Given the description of an element on the screen output the (x, y) to click on. 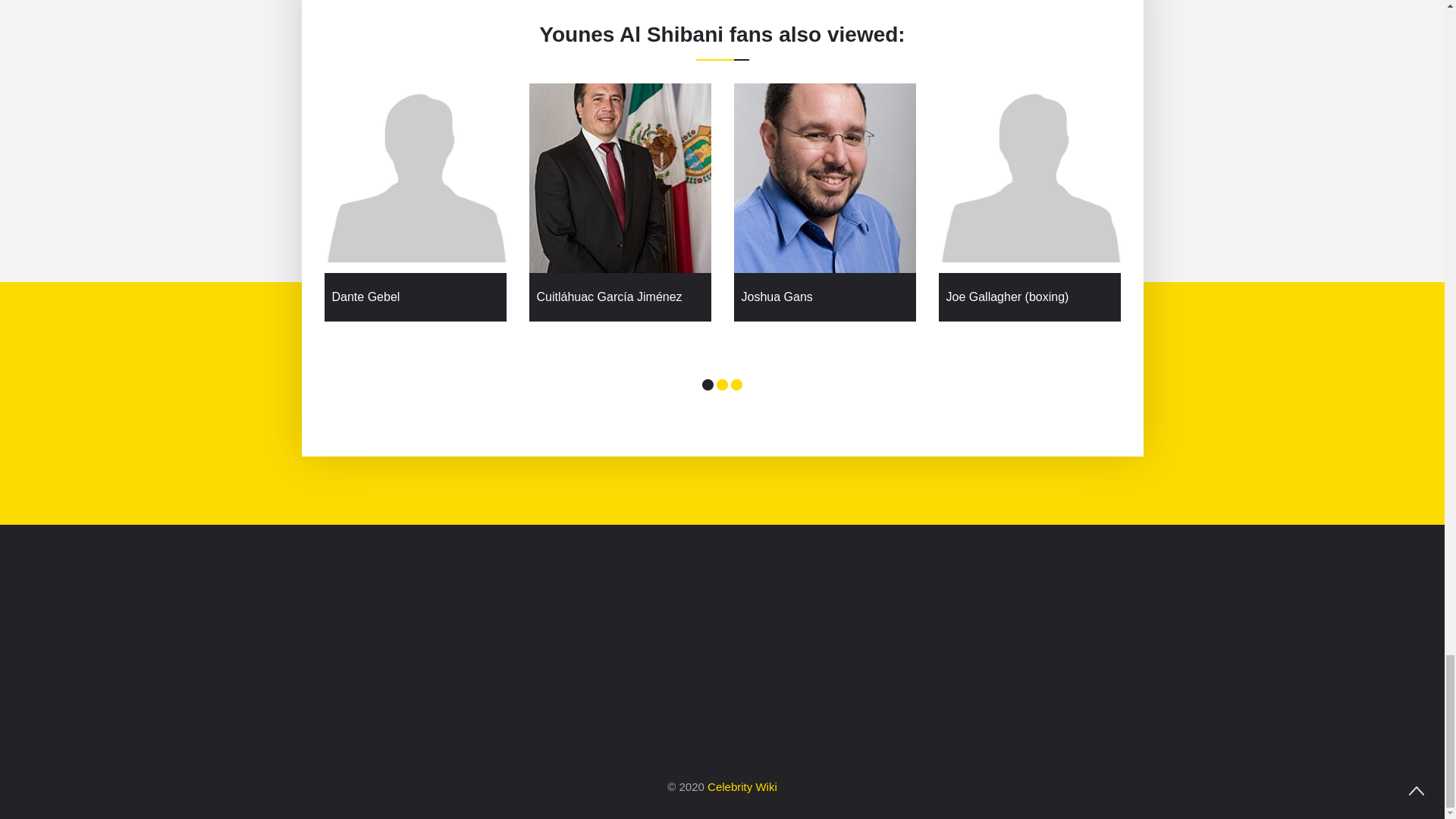
Dante Gebel (415, 297)
Joshua Gans (824, 297)
